Given the description of an element on the screen output the (x, y) to click on. 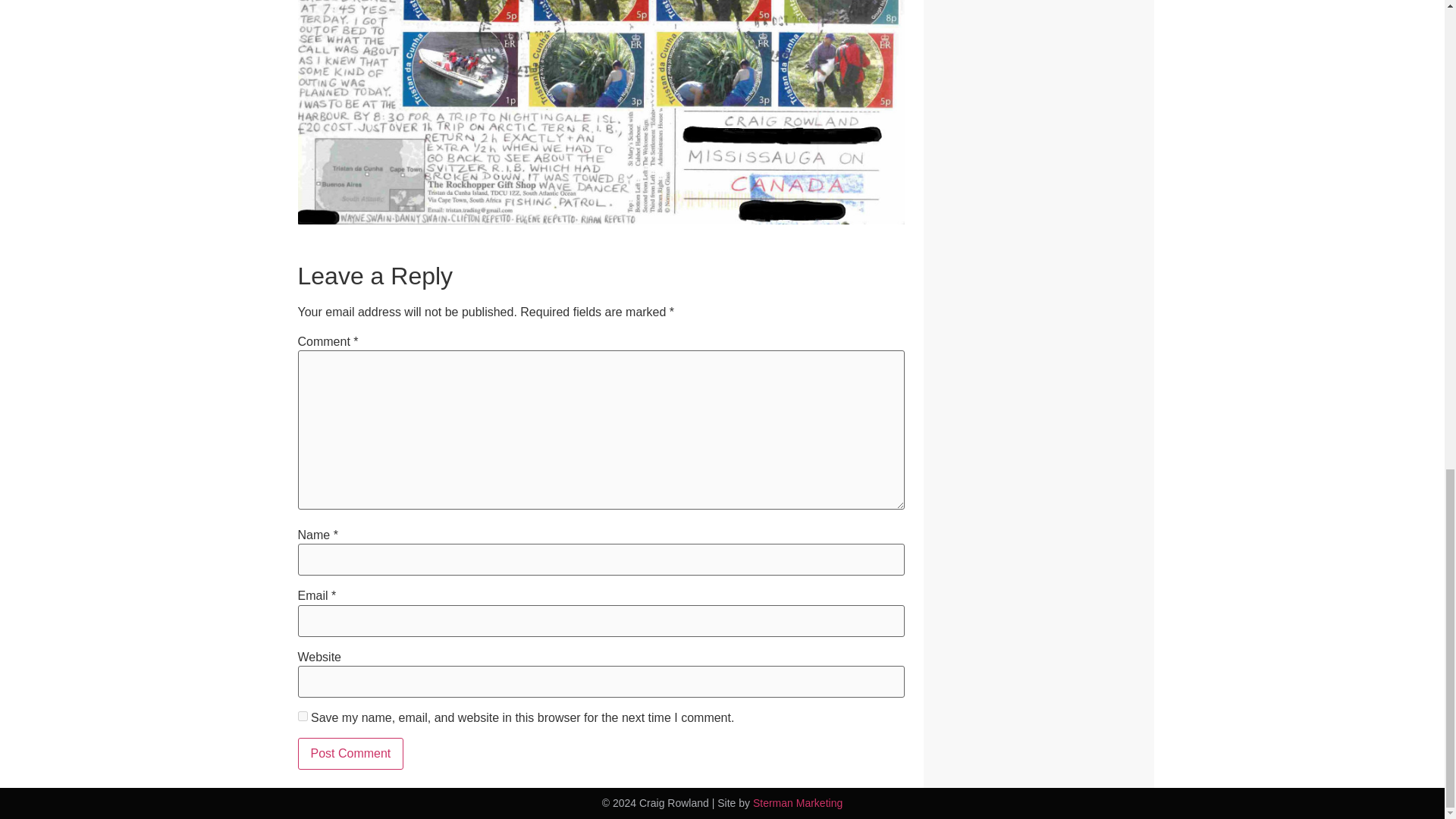
Post Comment (350, 753)
yes (302, 716)
Post Comment (350, 753)
